Given the description of an element on the screen output the (x, y) to click on. 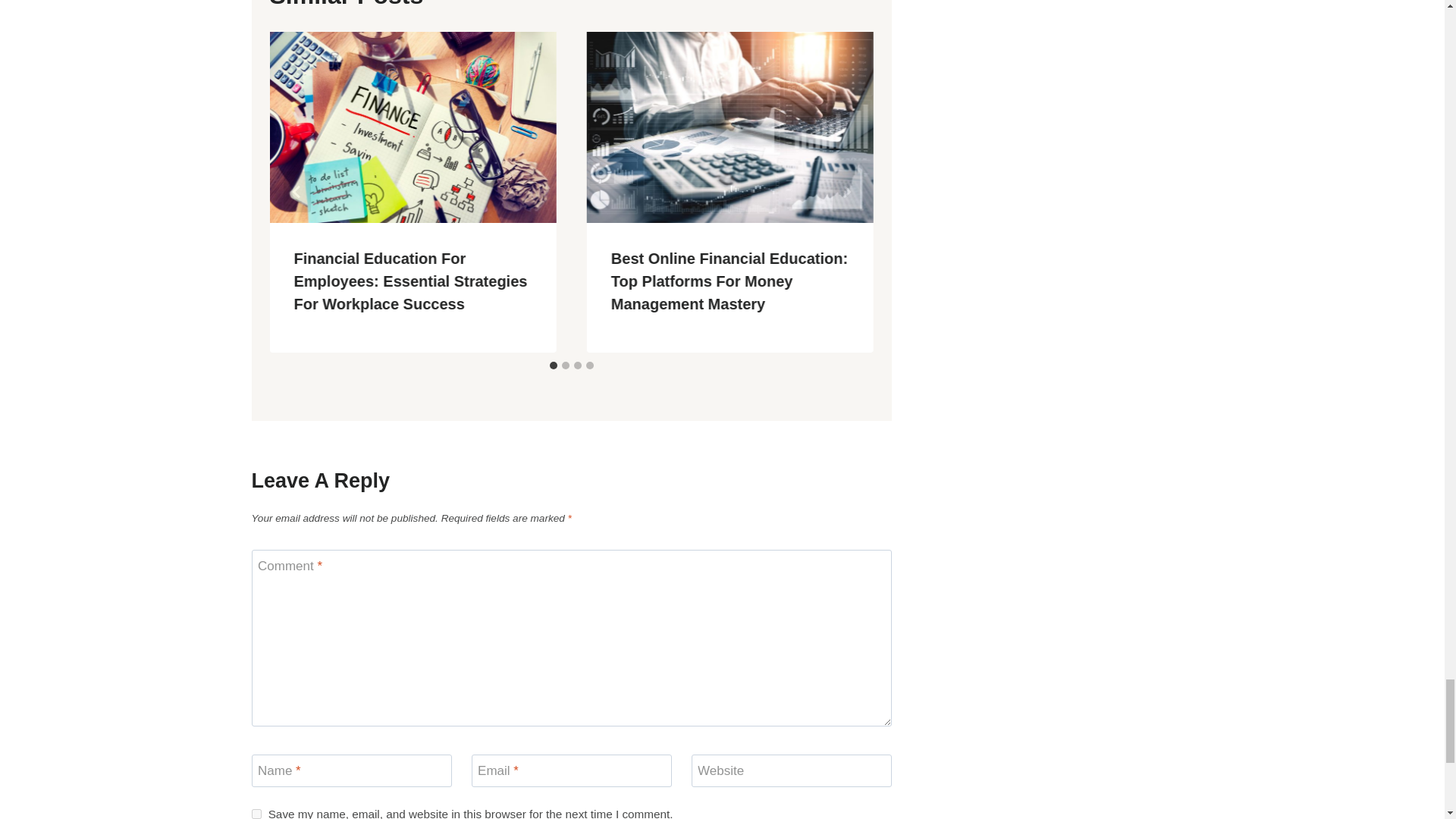
yes (256, 814)
